Given the description of an element on the screen output the (x, y) to click on. 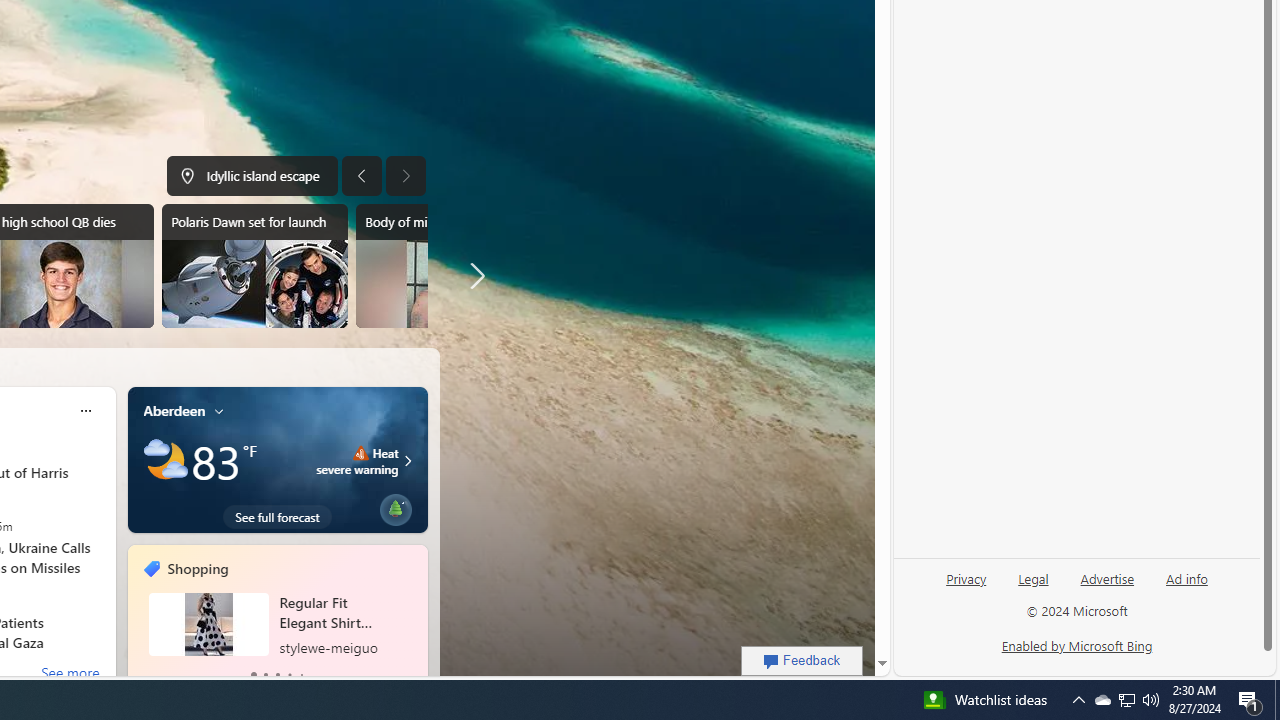
Heat - Severe Heat severe warning (357, 460)
Heat - Severe (360, 452)
More news (471, 275)
See full forecast (276, 516)
tab-0 (253, 674)
tab-2 (277, 674)
Aberdeen (174, 410)
Next image (405, 175)
Class: eplant-img (395, 506)
previous (137, 617)
